Given the description of an element on the screen output the (x, y) to click on. 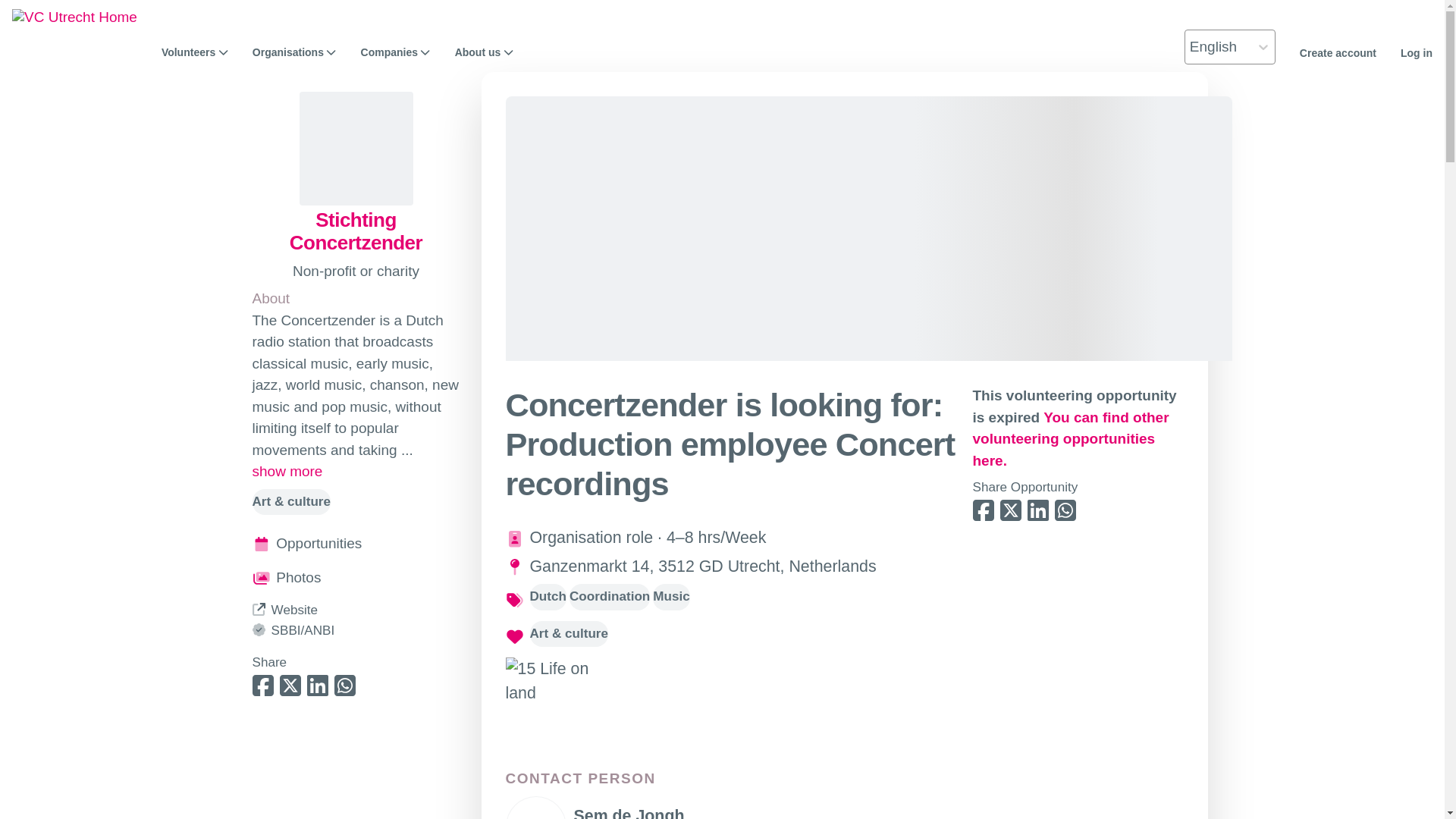
Organisations (293, 51)
Volunteers (194, 51)
Companies (395, 51)
You can find other volunteering opportunities here. (1070, 438)
Photos (355, 577)
show more (286, 472)
About us (483, 51)
Website (284, 609)
